Given the description of an element on the screen output the (x, y) to click on. 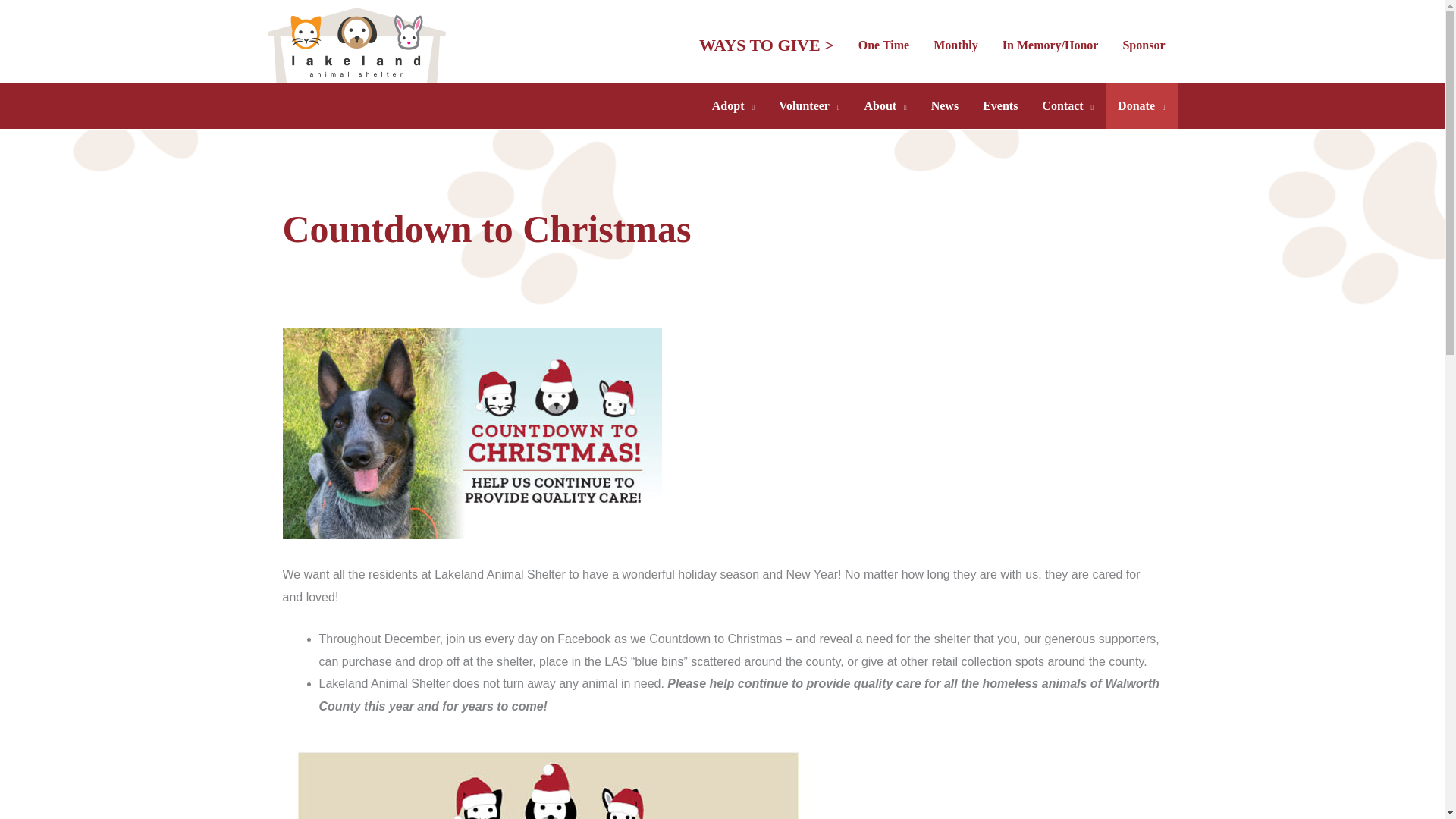
Sponsor (1142, 44)
Monthly (955, 44)
Contact (1067, 105)
Adopt (733, 105)
Donate (1140, 105)
One Time (883, 44)
News (944, 105)
Volunteer (809, 105)
Events (1000, 105)
About (884, 105)
